Given the description of an element on the screen output the (x, y) to click on. 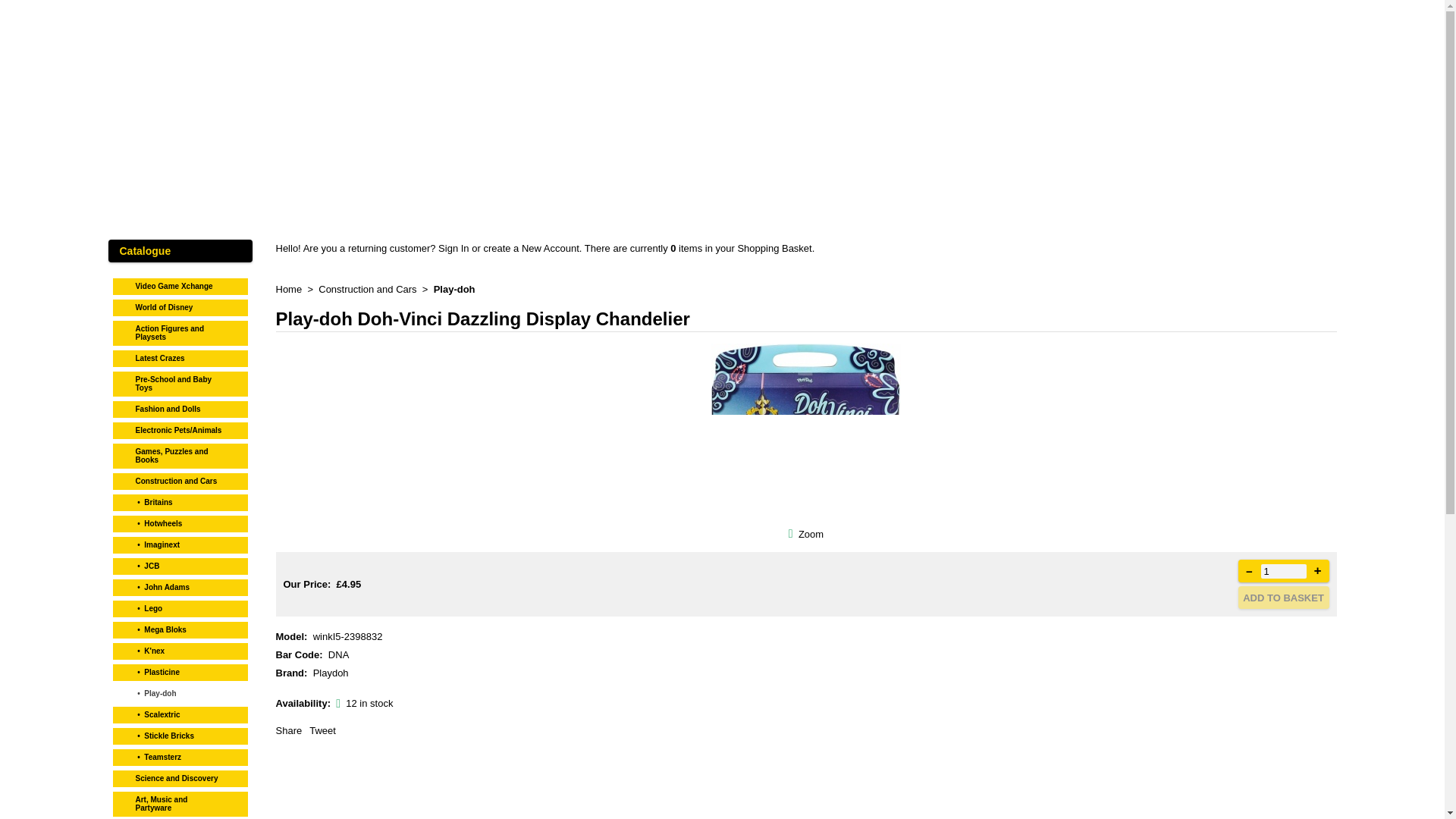
Science and Discovery (179, 776)
Home (289, 288)
Play-doh (454, 288)
Shopping Basket (773, 247)
Construction and Cars (179, 478)
Sign In (453, 247)
Zoom (806, 433)
Games, Puzzles and Books (179, 453)
Tweet (322, 730)
Play-doh Doh-Vinci Dazzling Display Chandelier (810, 532)
